Given the description of an element on the screen output the (x, y) to click on. 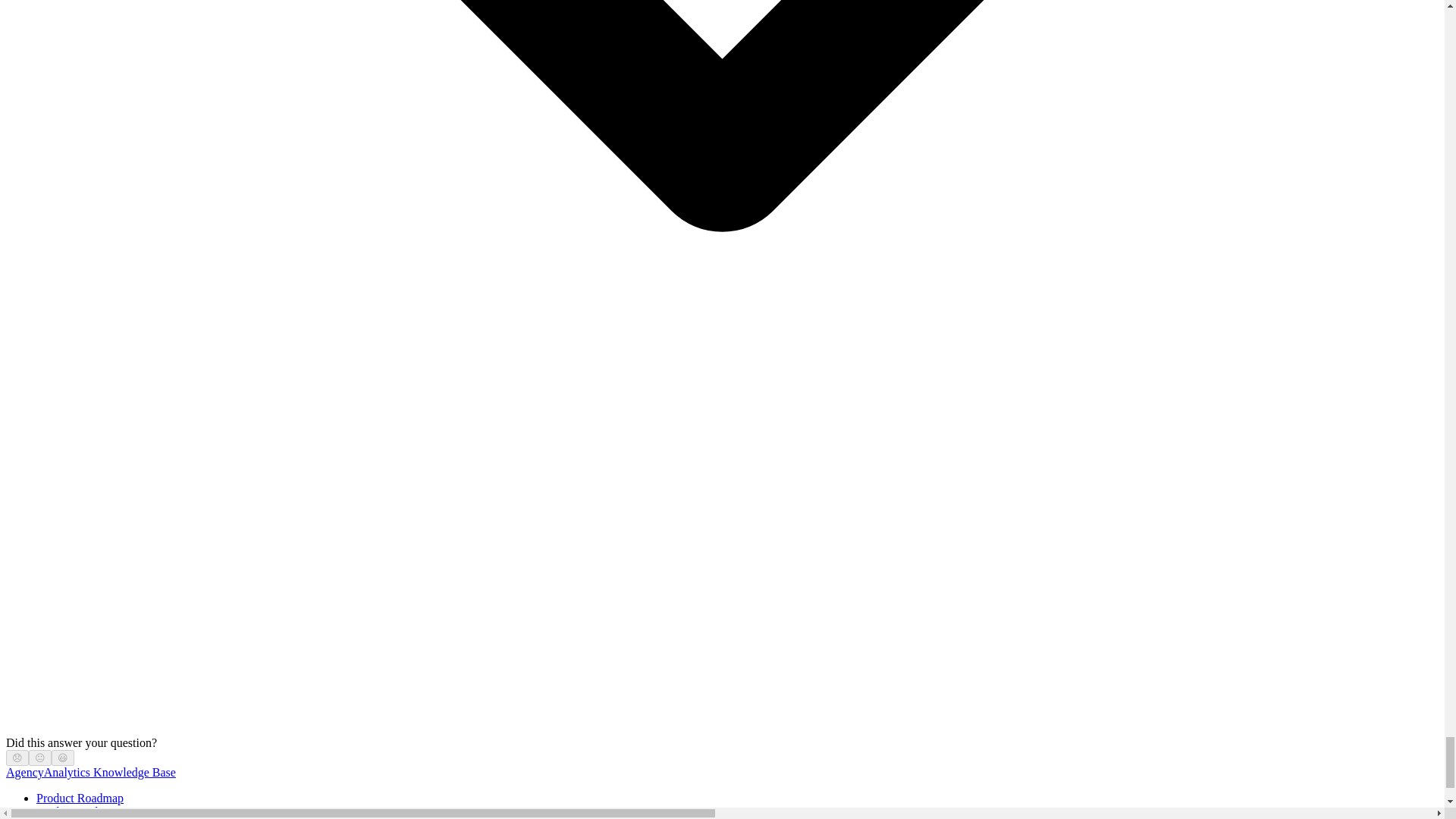
Smiley (63, 757)
Neutral (39, 757)
Disappointed (17, 757)
